Given the description of an element on the screen output the (x, y) to click on. 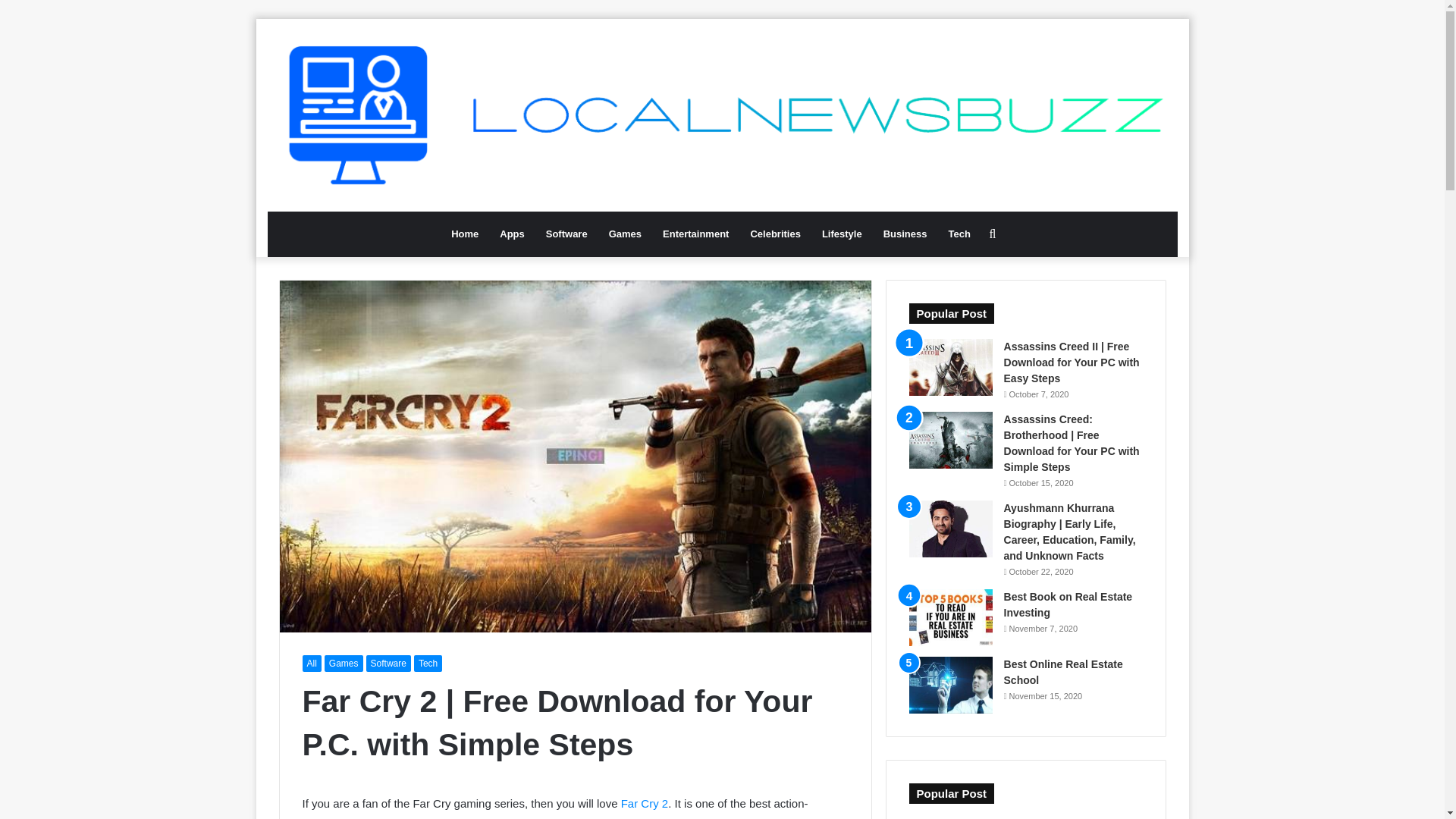
Far Cry 2 (644, 802)
Home (465, 234)
Software (388, 663)
Tech (958, 234)
Games (343, 663)
Entertainment (695, 234)
Games (625, 234)
Business (904, 234)
Apps (512, 234)
Tech (427, 663)
Celebrities (774, 234)
All (310, 663)
Software (566, 234)
Lifestyle (841, 234)
